Given the description of an element on the screen output the (x, y) to click on. 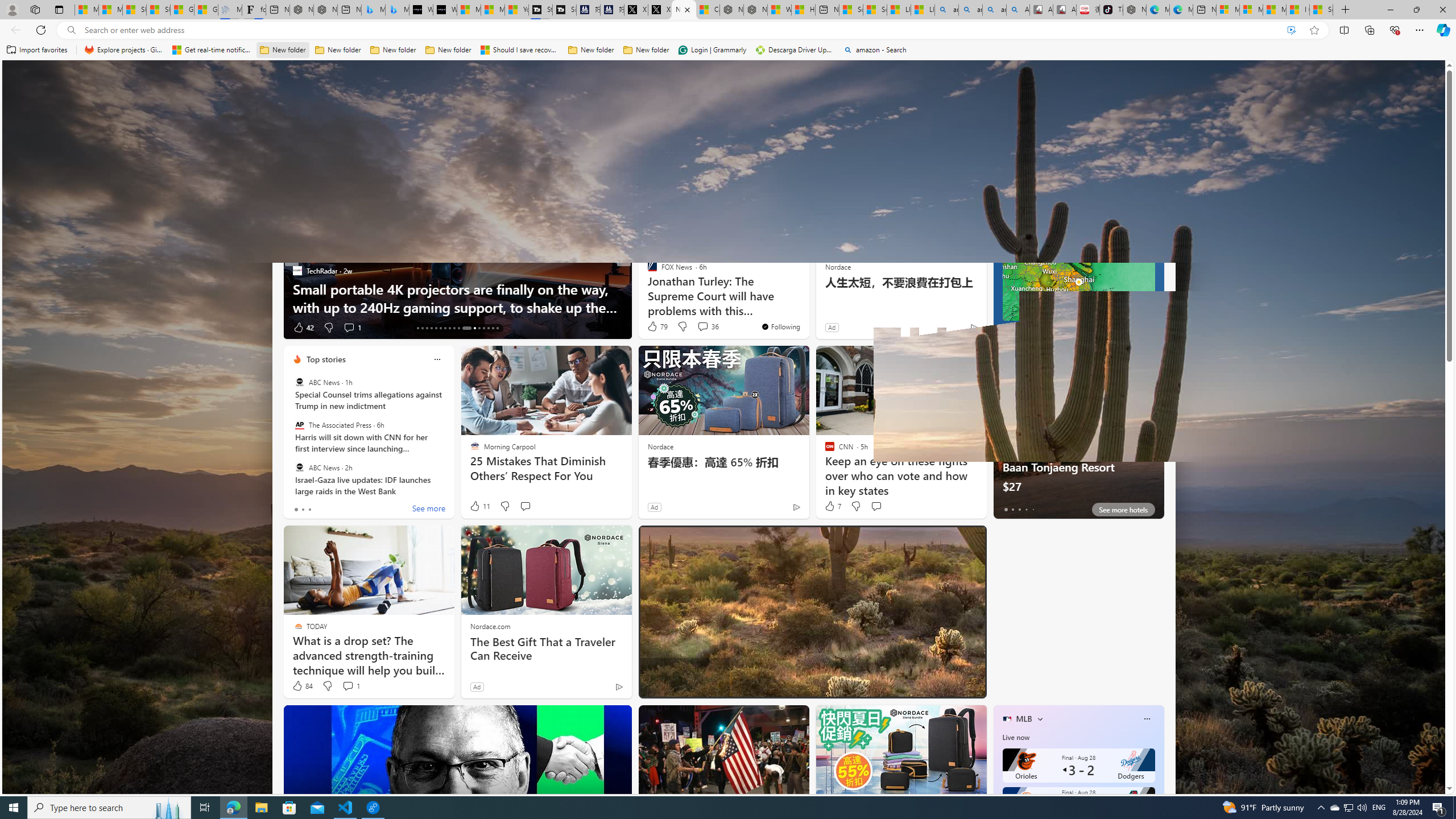
Shopping (705, 151)
AutomationID: tab-16 (431, 328)
tab-2 (1019, 509)
Personalize your feed" (1054, 151)
AutomationID: tab-17 (435, 328)
Nordace (659, 446)
TikTok (1111, 9)
Tab actions menu (58, 9)
Baan Tonjaeng Resort (1078, 436)
Shanghai (1018, 179)
Money (498, 151)
Microsoft Start (1274, 9)
AutomationID: tab-13 (417, 328)
